Given the description of an element on the screen output the (x, y) to click on. 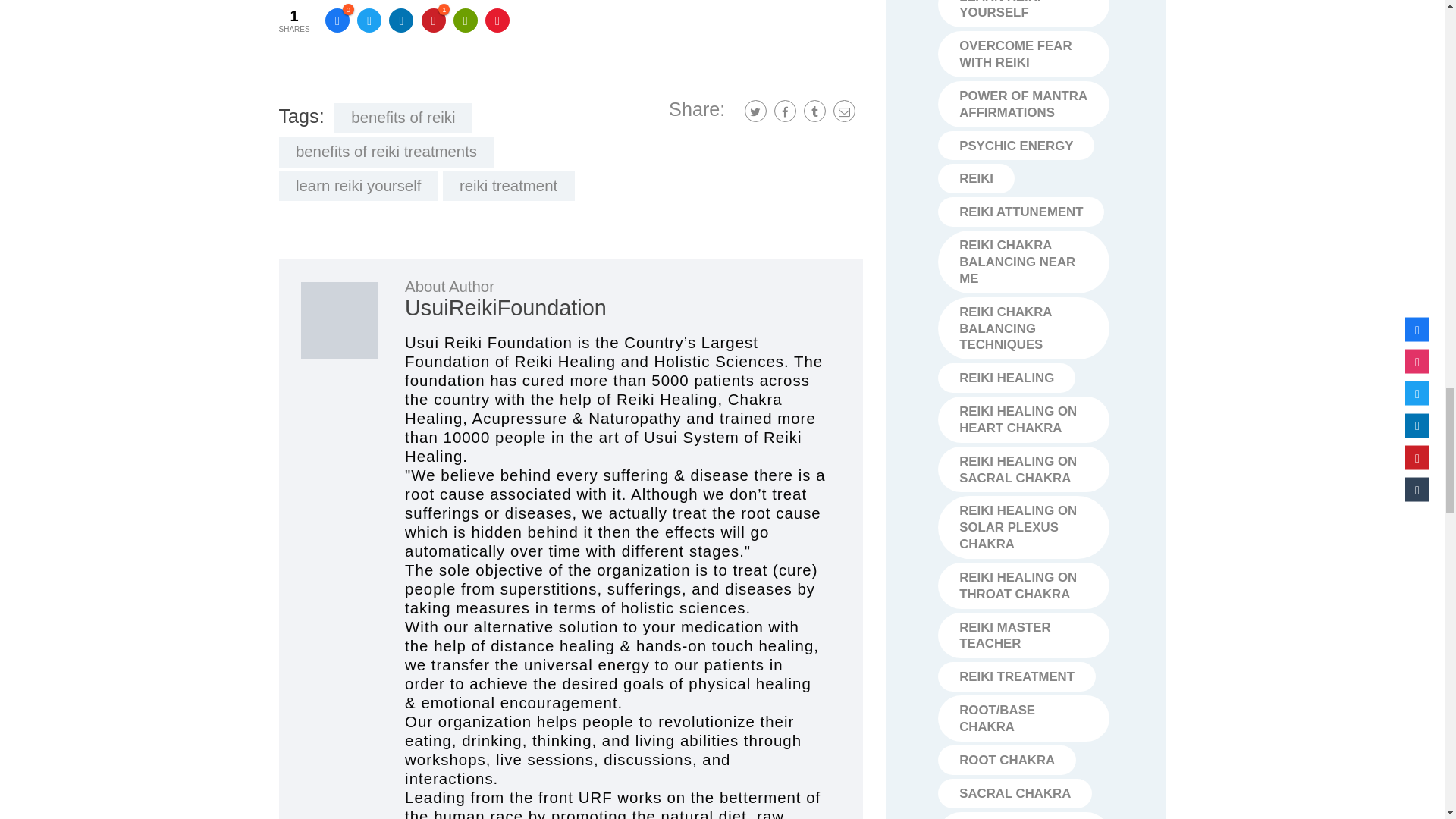
Print this article  (464, 20)
Add this to LinkedIn (400, 20)
Tweet this ! (368, 20)
Convert to PDF (496, 20)
Submit this to Pinterest (433, 20)
Share this on Facebook (336, 20)
